Given the description of an element on the screen output the (x, y) to click on. 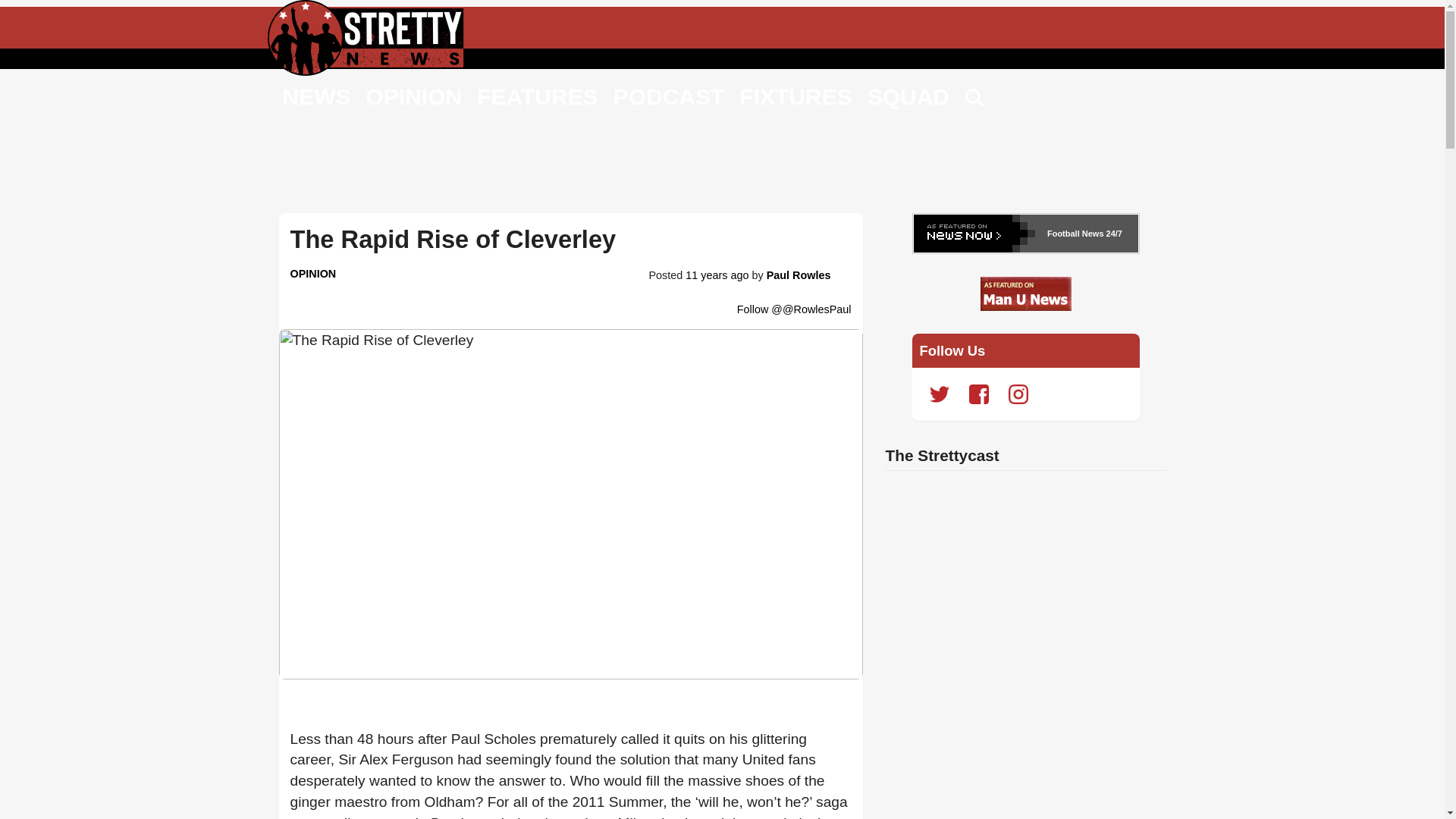
Latest Opinion News (312, 273)
OPINION (312, 273)
PODCAST (668, 95)
FIXTURES (795, 95)
Paul Rowles (799, 275)
View more articles by Paul Rowles (799, 275)
Search (975, 98)
11 years ago (716, 275)
NEWS (316, 95)
